Given the description of an element on the screen output the (x, y) to click on. 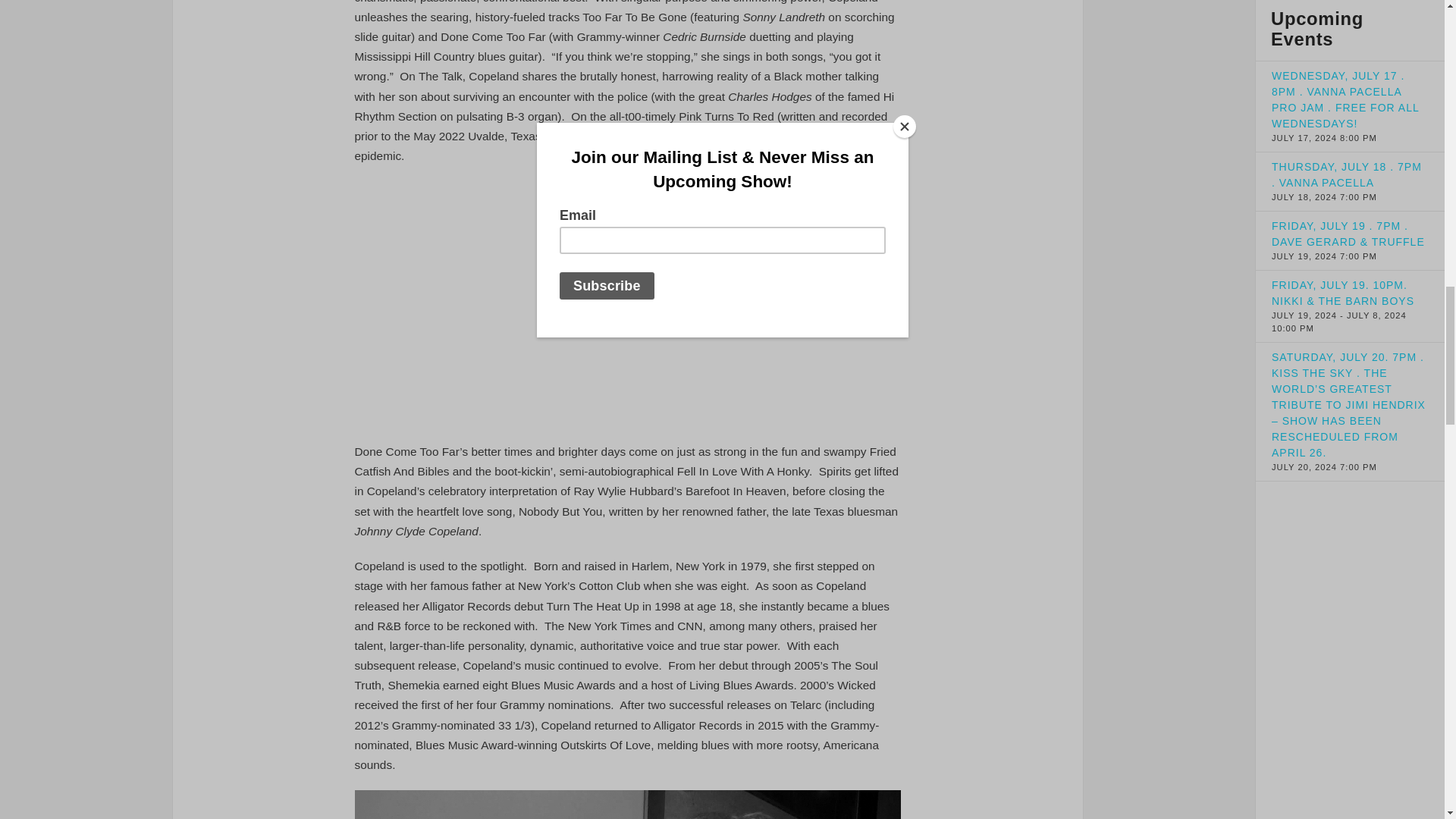
YouTube video player (628, 300)
